Given the description of an element on the screen output the (x, y) to click on. 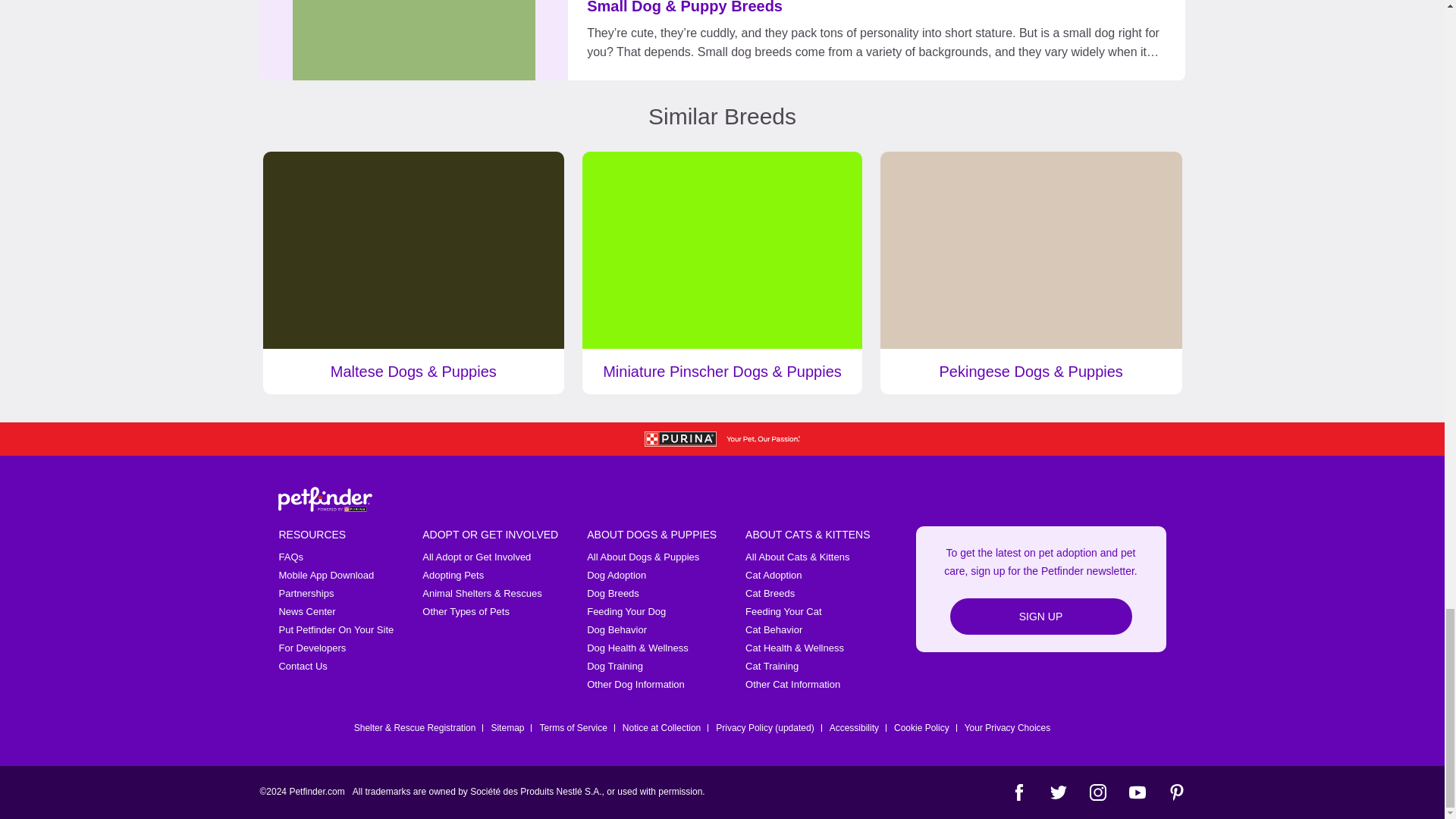
Petfinder Logo (325, 499)
facebook (1018, 791)
twitter (1057, 791)
youtube (1136, 791)
pinterest (1176, 791)
instagram (1097, 791)
